Given the description of an element on the screen output the (x, y) to click on. 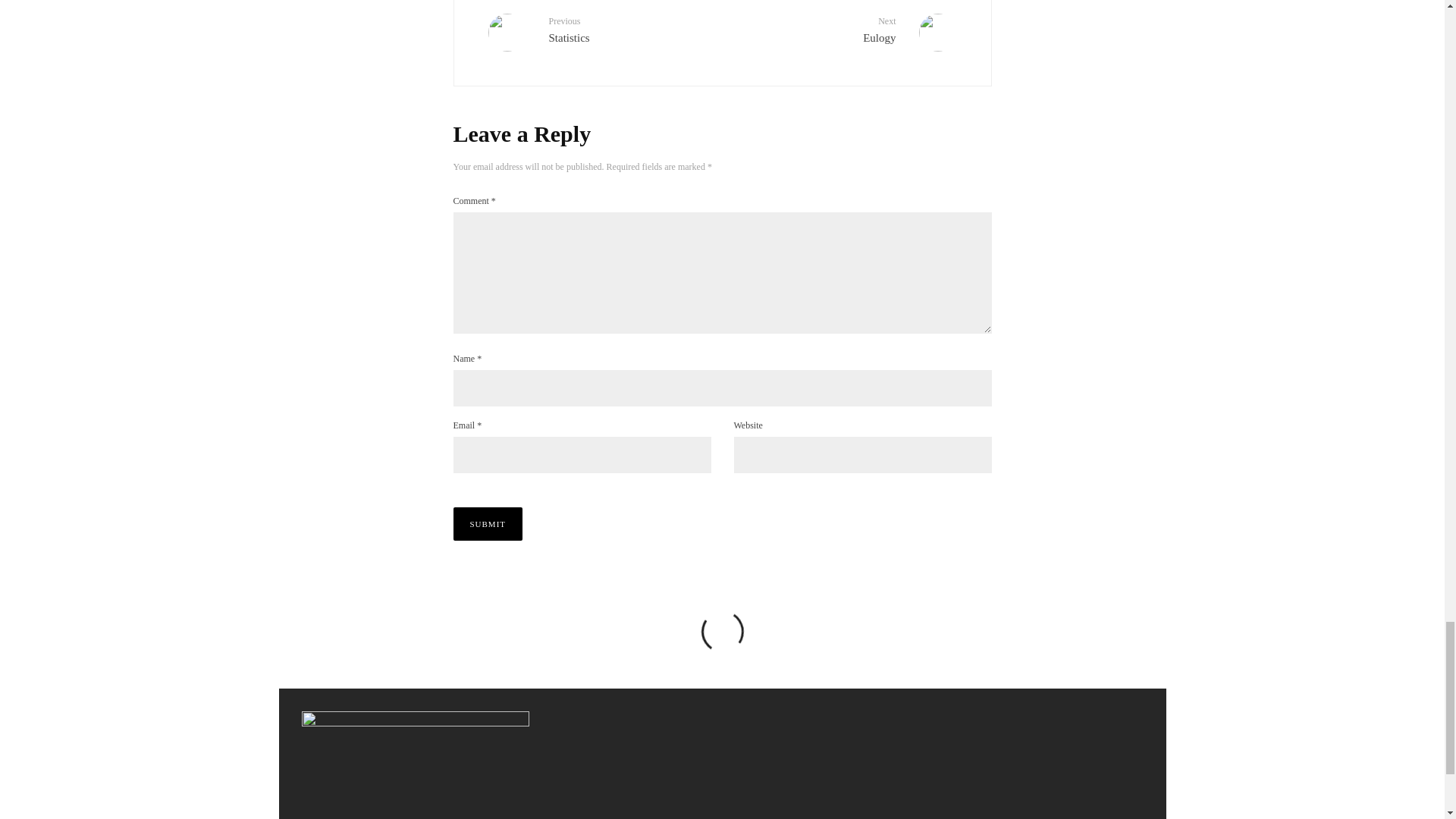
Submit (487, 523)
